Given the description of an element on the screen output the (x, y) to click on. 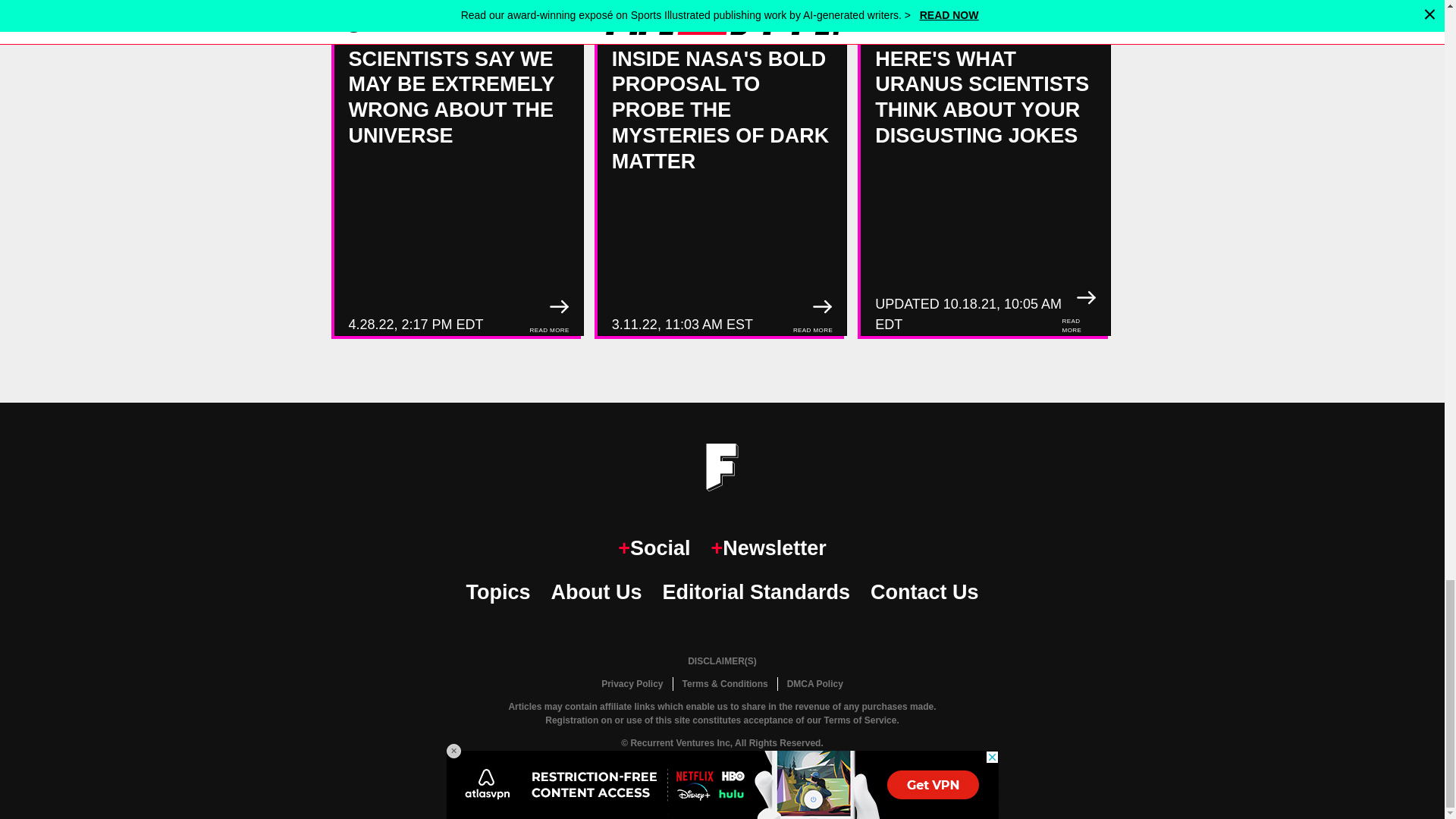
DMCA Policy (814, 684)
About Us (596, 592)
Contact Us (924, 592)
Privacy Policy (631, 684)
Editorial Standards (756, 592)
Topics (497, 592)
